Given the description of an element on the screen output the (x, y) to click on. 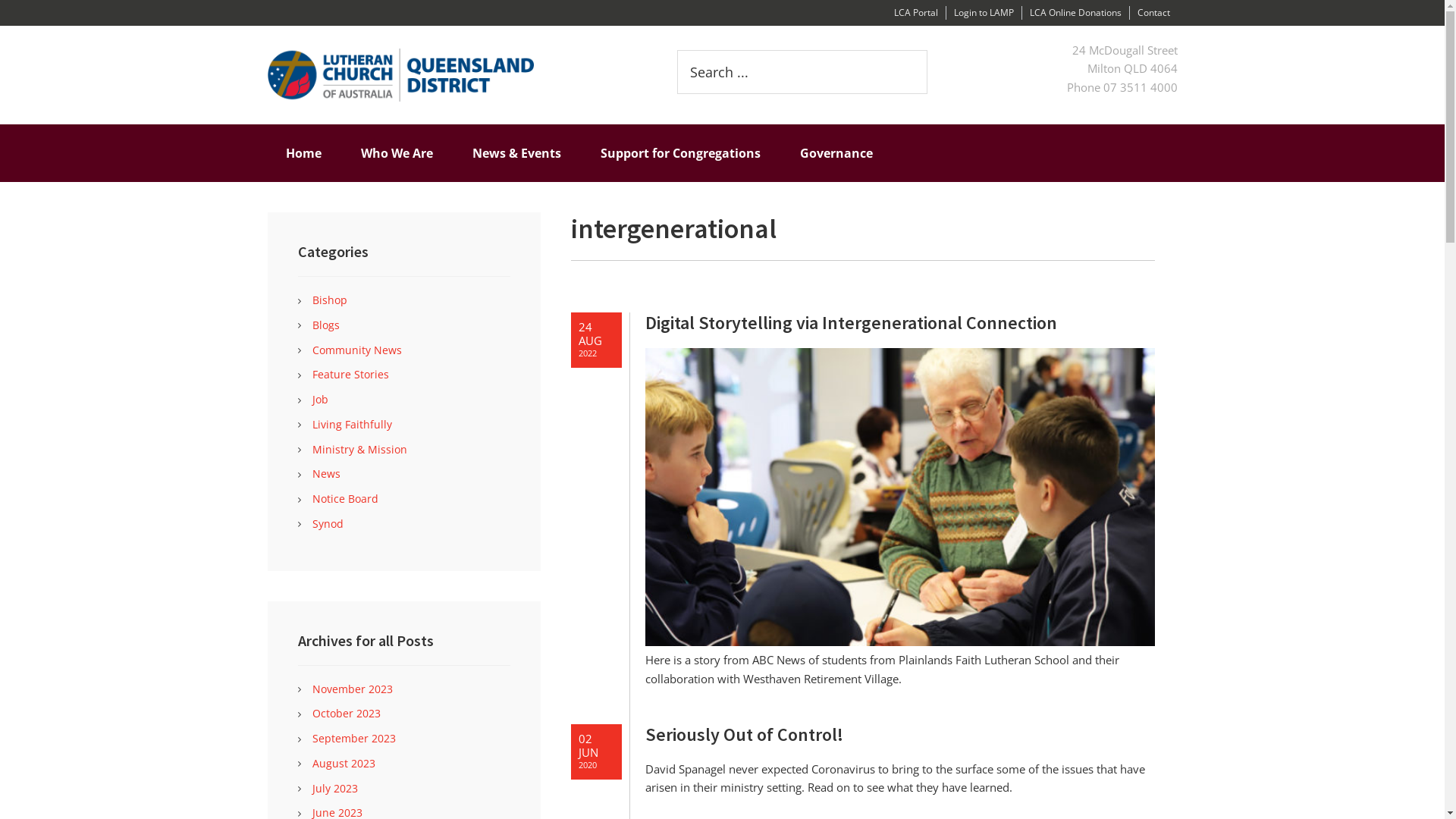
Search Element type: text (926, 49)
Who We Are Element type: text (396, 153)
August 2023 Element type: text (343, 763)
Governance Element type: text (835, 153)
Synod Element type: text (327, 523)
September 2023 Element type: text (353, 738)
Bishop Element type: text (329, 299)
Blogs Element type: text (325, 324)
Login to LAMP Element type: text (983, 12)
Contact Element type: text (1153, 12)
November 2023 Element type: text (352, 687)
Living Faithfully Element type: text (352, 424)
Skip to primary navigation Element type: text (0, 0)
July 2023 Element type: text (334, 788)
Community News Element type: text (356, 349)
News Element type: text (326, 473)
LCA Portal Element type: text (915, 12)
News & Events Element type: text (515, 153)
Seriously Out of Control! Element type: text (899, 735)
Feature Stories Element type: text (350, 374)
Ministry & Mission Element type: text (359, 448)
Digital Storytelling via Intergenerational Connection Element type: text (899, 323)
LCA Online Donations Element type: text (1075, 12)
October 2023 Element type: text (346, 713)
Job Element type: text (320, 399)
Support for Congregations Element type: text (680, 153)
Notice Board Element type: text (345, 498)
Qld District Element type: text (448, 74)
Home Element type: text (302, 153)
